Given the description of an element on the screen output the (x, y) to click on. 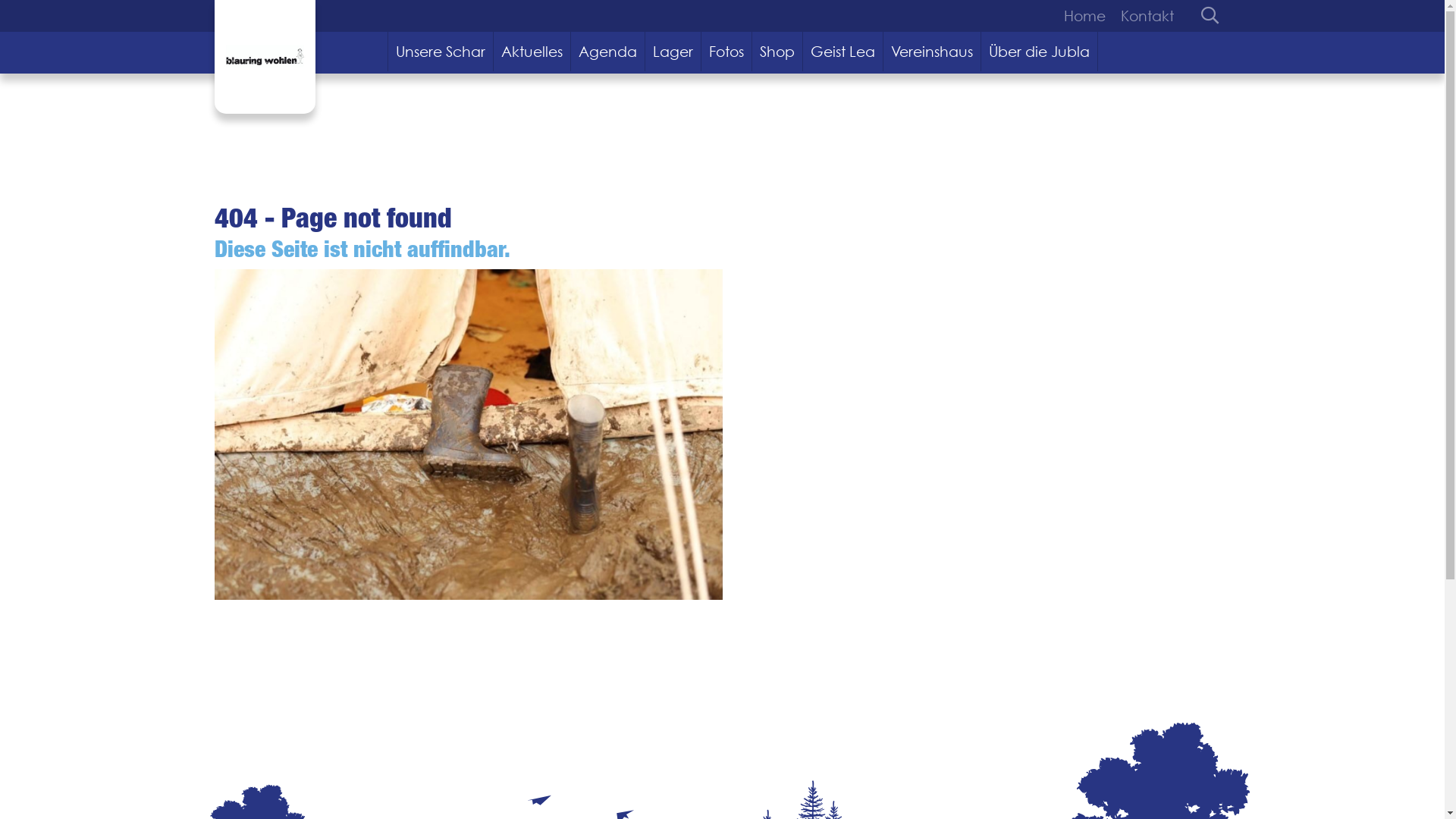
Vereinshaus Element type: text (932, 51)
Unsere Schar Element type: text (440, 51)
Lager Element type: text (673, 51)
404 - Page not found Element type: hover (467, 434)
Home Element type: text (1087, 15)
Shop Element type: text (777, 51)
Aktuelles Element type: text (532, 51)
Fotos Element type: text (726, 51)
Blauring Wohlen Element type: hover (264, 56)
Agenda Element type: text (608, 51)
Geist Lea Element type: text (843, 51)
Kontakt Element type: text (1143, 15)
